Given the description of an element on the screen output the (x, y) to click on. 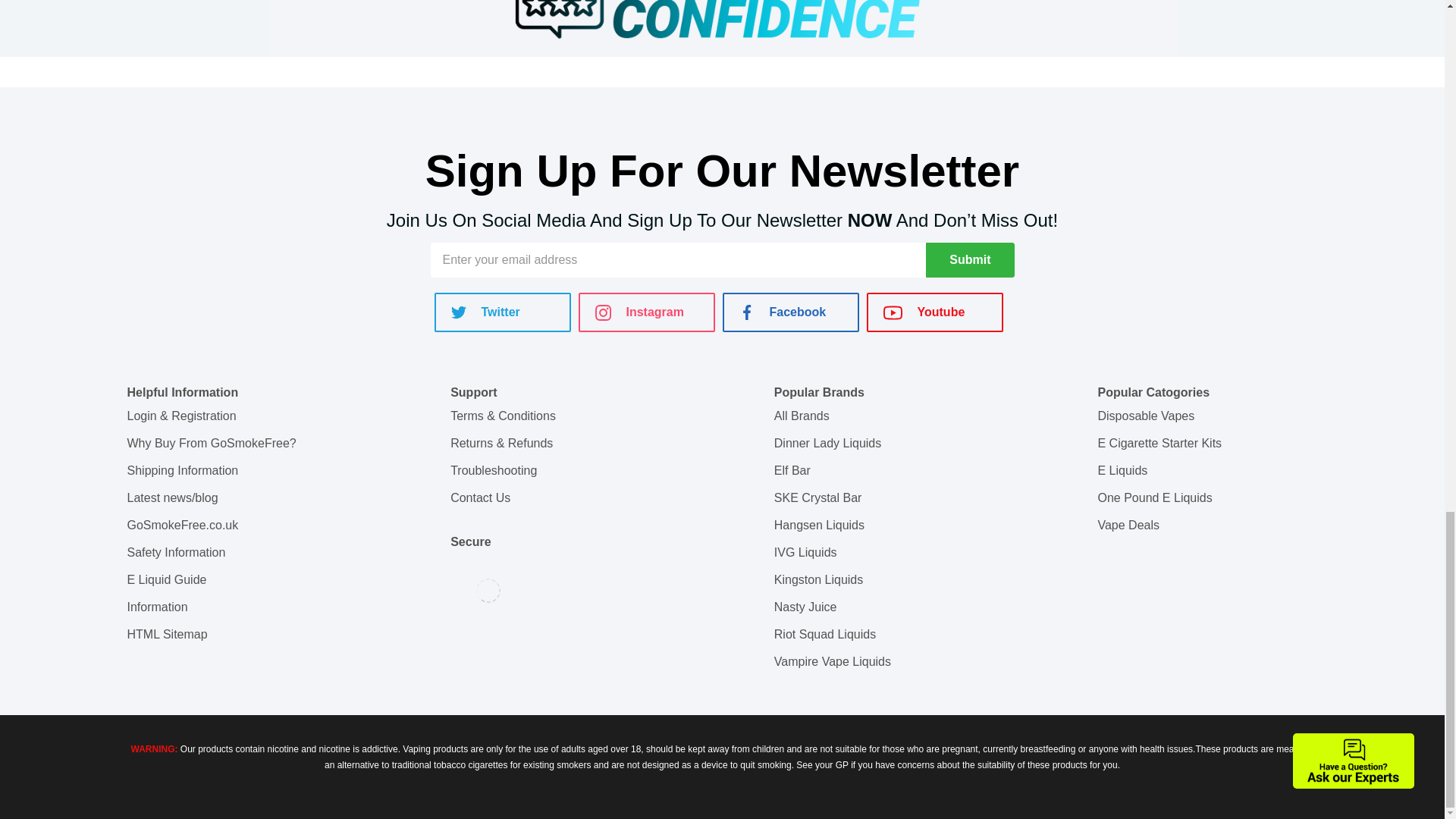
Submit (969, 259)
